Given the description of an element on the screen output the (x, y) to click on. 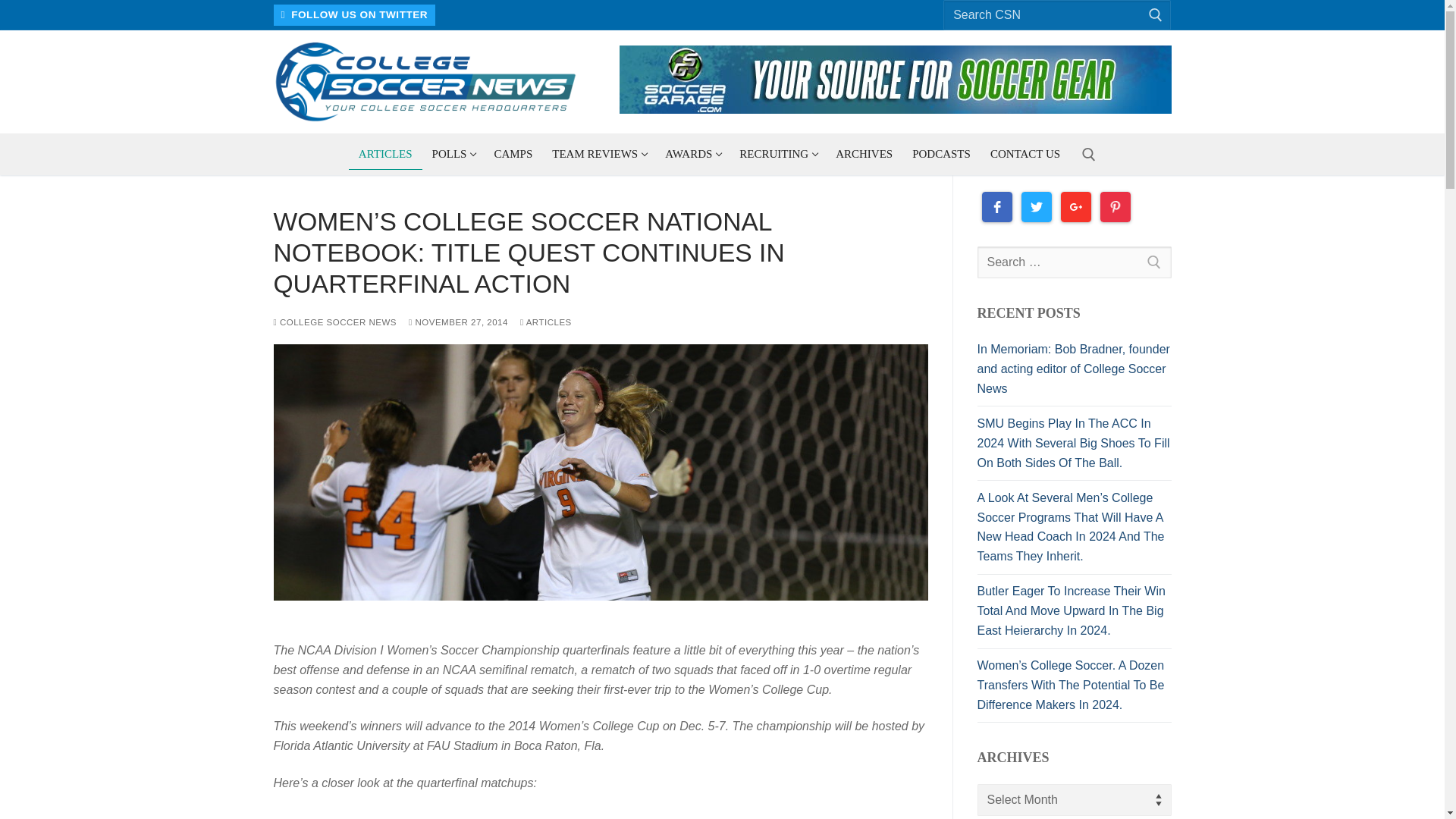
FOLLOW US ON TWITTER (354, 14)
Search for: (453, 153)
CAMPS (598, 153)
ARTICLES (1056, 14)
